Given the description of an element on the screen output the (x, y) to click on. 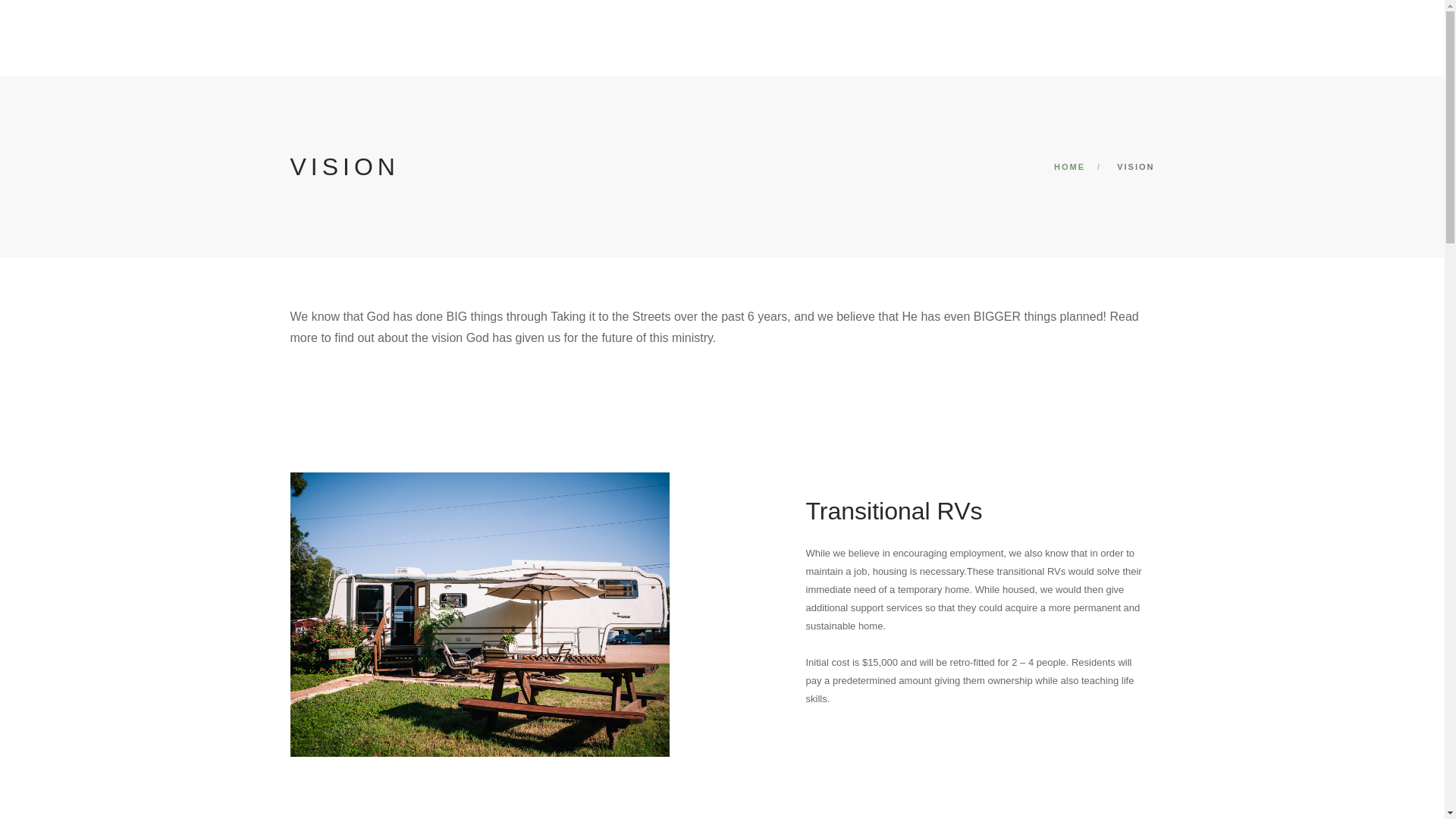
ABOUT US (832, 21)
DONATE (1138, 21)
HOME (1069, 166)
VOLUNTEER (1066, 21)
CONTACT US (1267, 21)
DOWNTOWN DINNERS (946, 21)
